Given the description of an element on the screen output the (x, y) to click on. 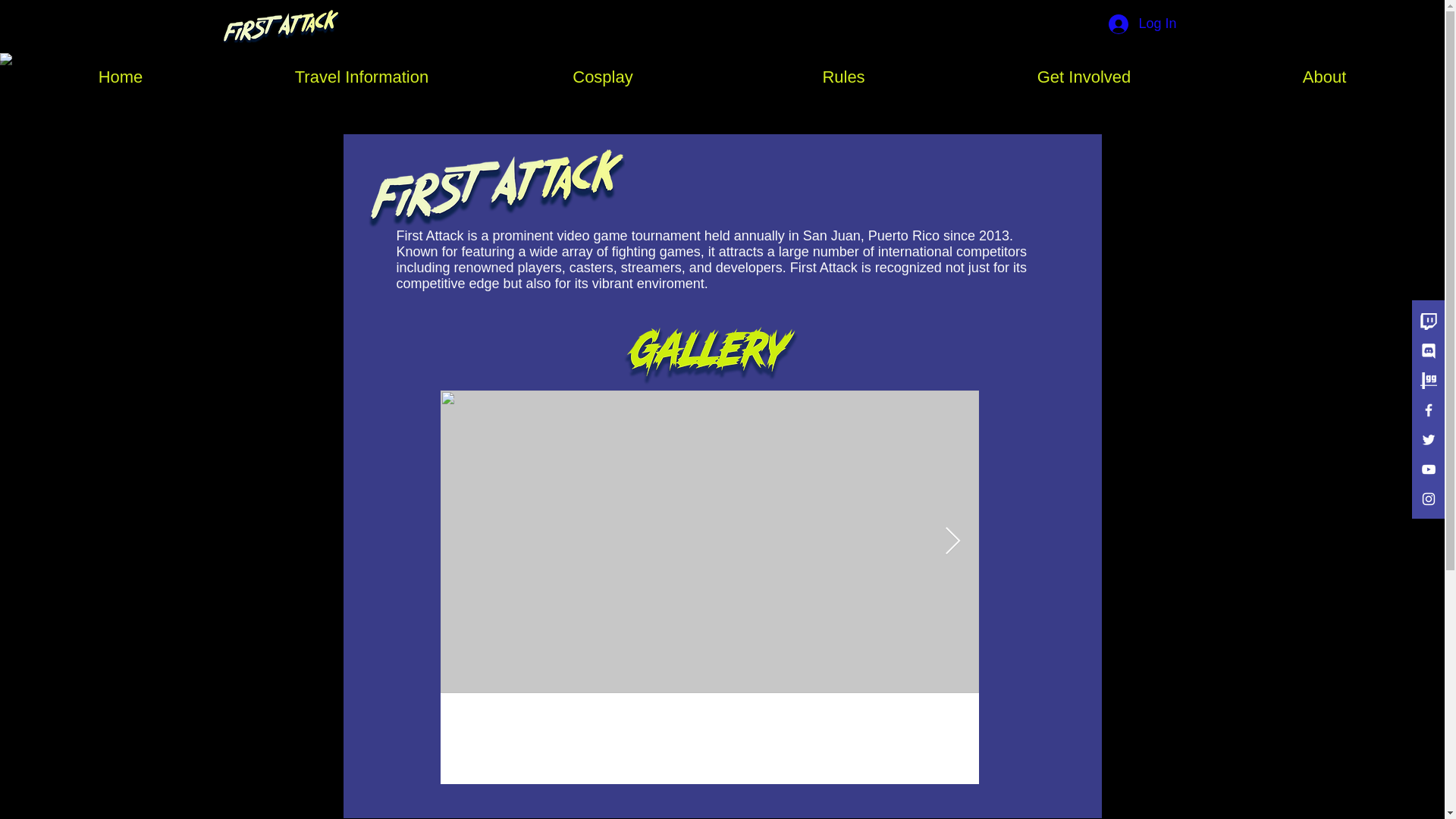
Home (120, 76)
Cosplay (602, 76)
Log In (1130, 23)
Travel Information (361, 76)
Rules (842, 76)
